Given the description of an element on the screen output the (x, y) to click on. 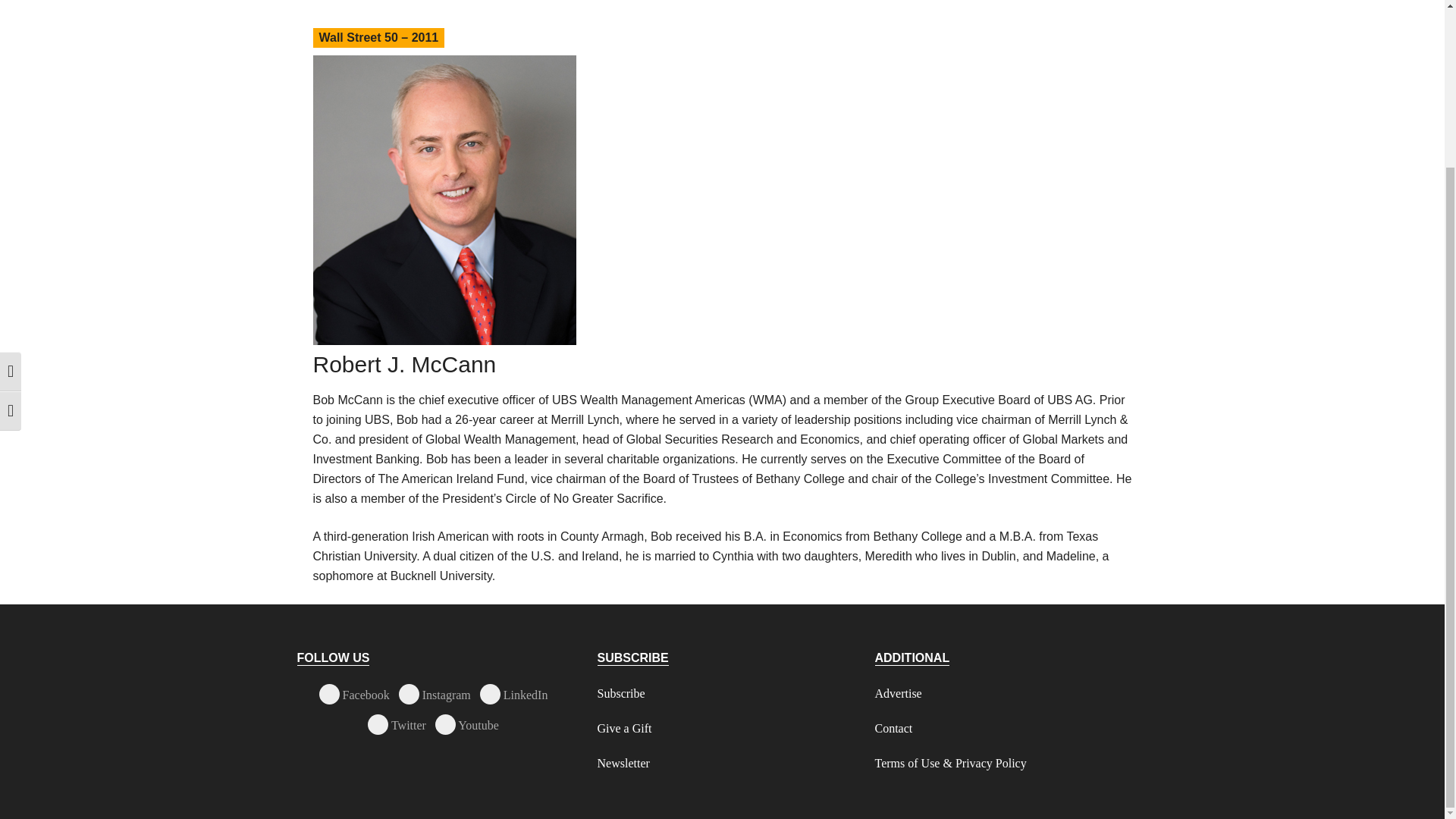
Newsletter (622, 762)
Contact (893, 727)
Give a Gift (624, 727)
Advertise (898, 693)
Subscribe (620, 693)
